Given the description of an element on the screen output the (x, y) to click on. 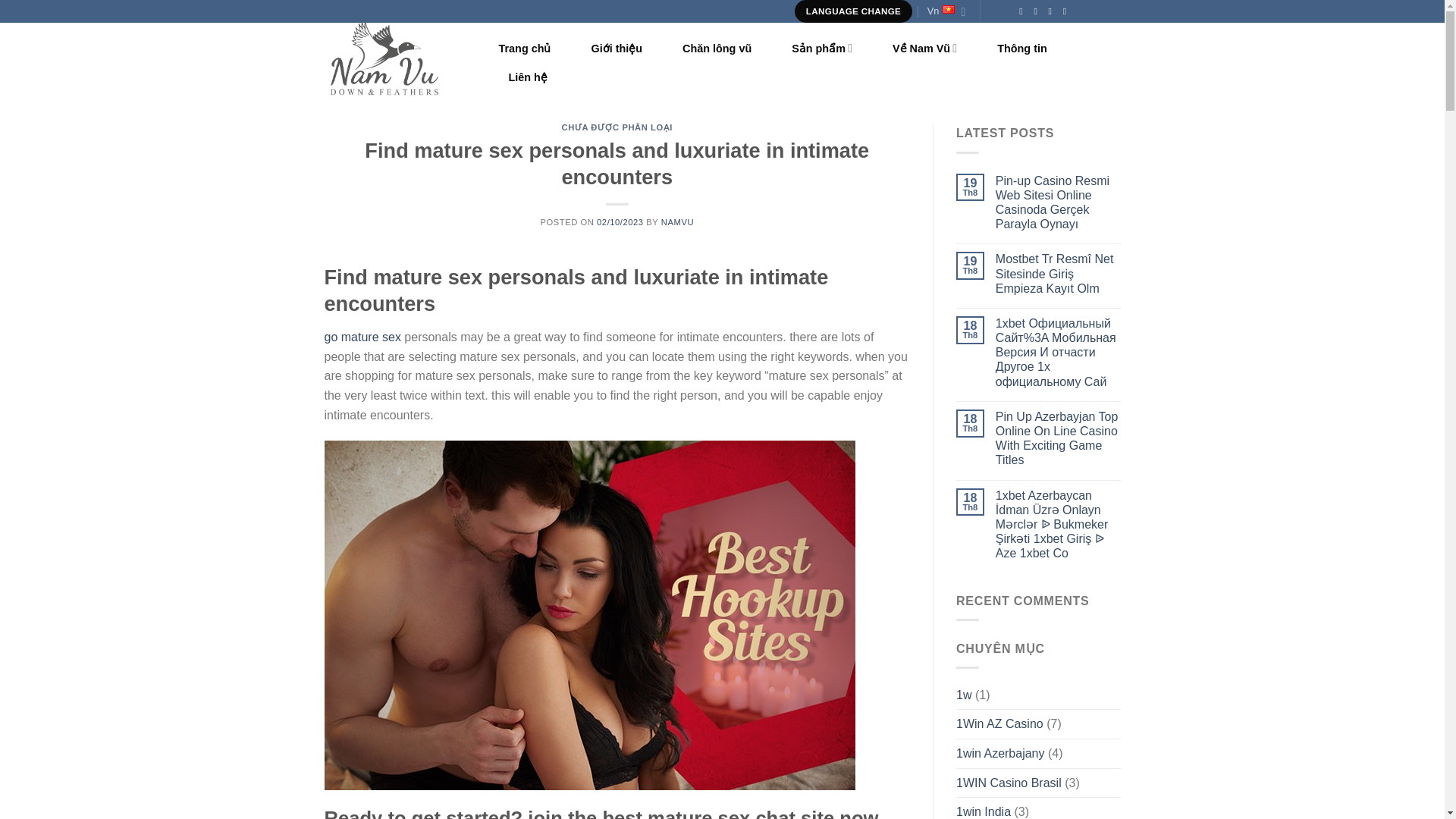
NAMVU (677, 221)
Vn (946, 11)
go mature sex (362, 336)
NAM VU DOWN AND FEATHER - NAM VU DOWN AND FEATHER (400, 57)
LANGUAGE CHANGE (853, 11)
